Given the description of an element on the screen output the (x, y) to click on. 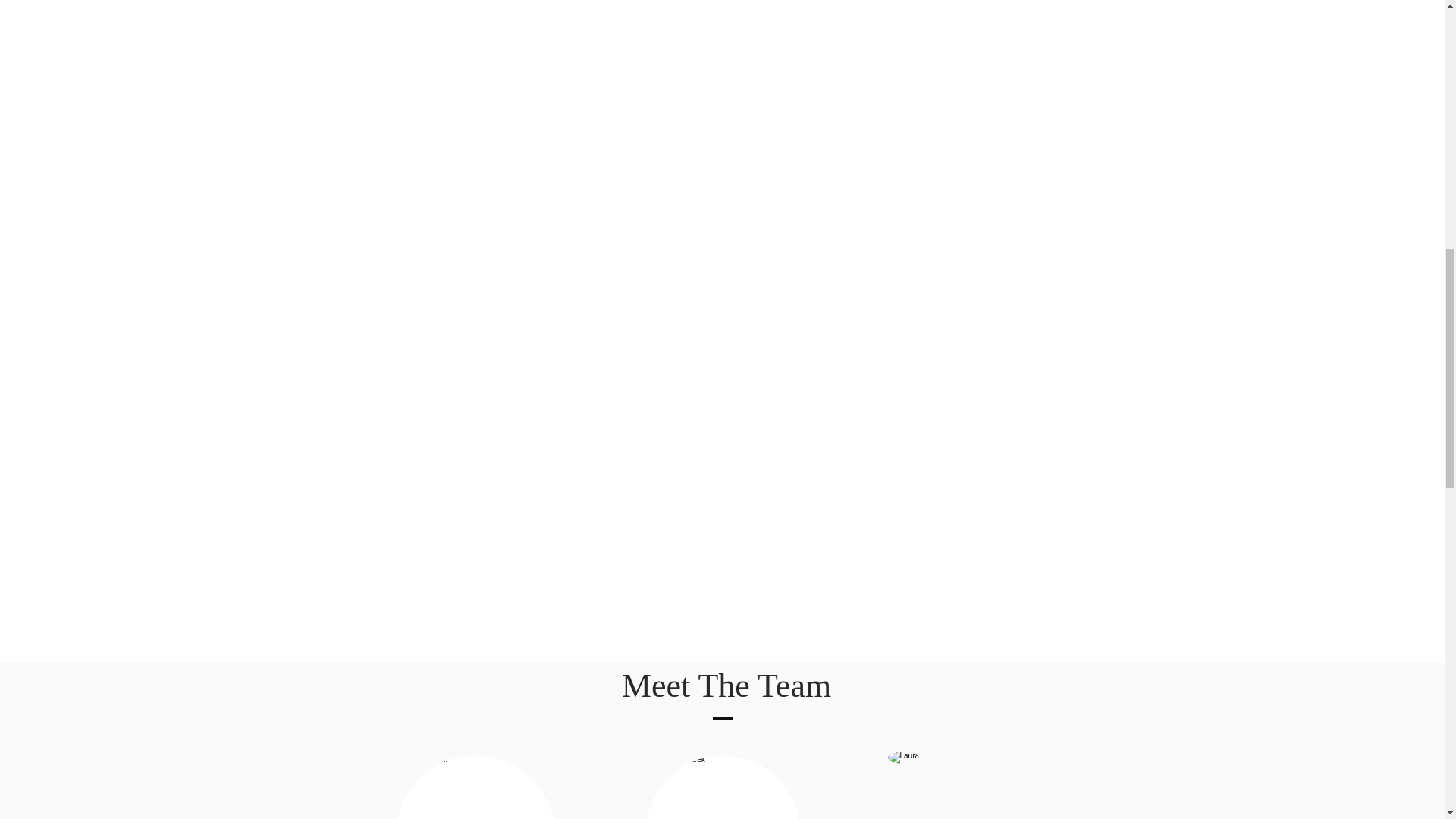
guy3.jpg (722, 787)
guy2.jpg (475, 787)
